Given the description of an element on the screen output the (x, y) to click on. 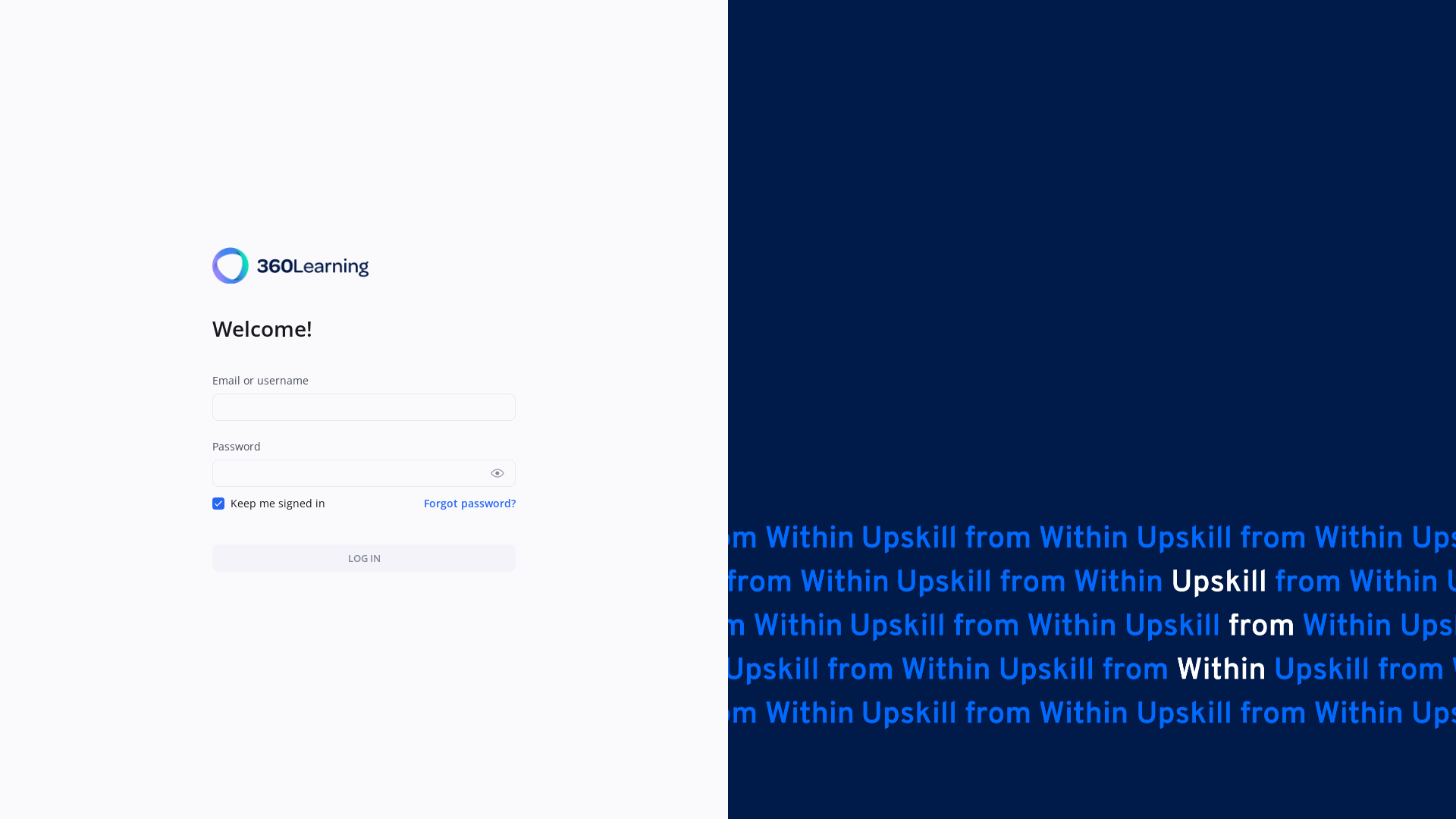
LOG IN Element type: text (363, 557)
Forgot password? Element type: text (469, 502)
